Given the description of an element on the screen output the (x, y) to click on. 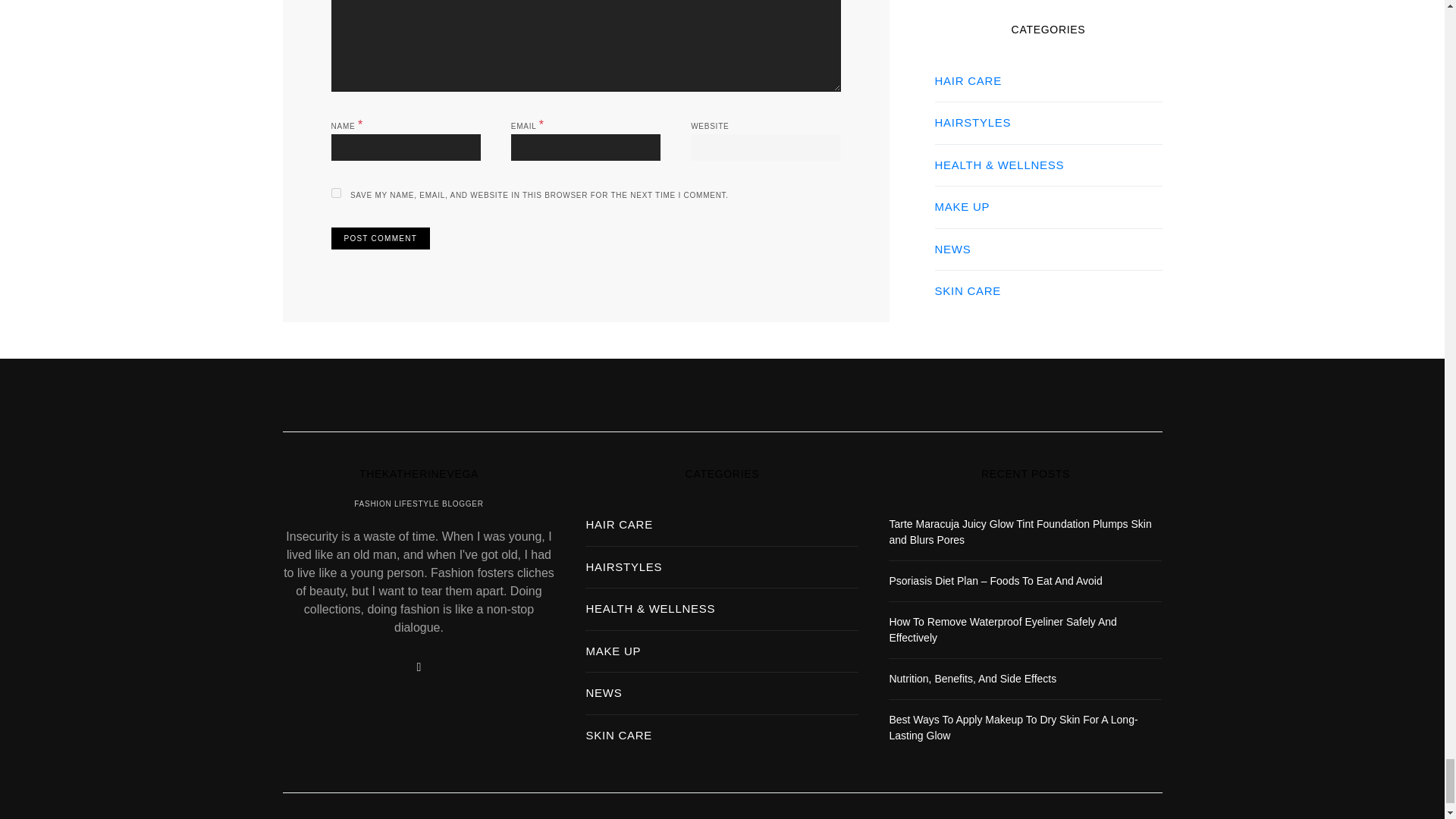
yes (335, 193)
Post Comment (379, 238)
